Given the description of an element on the screen output the (x, y) to click on. 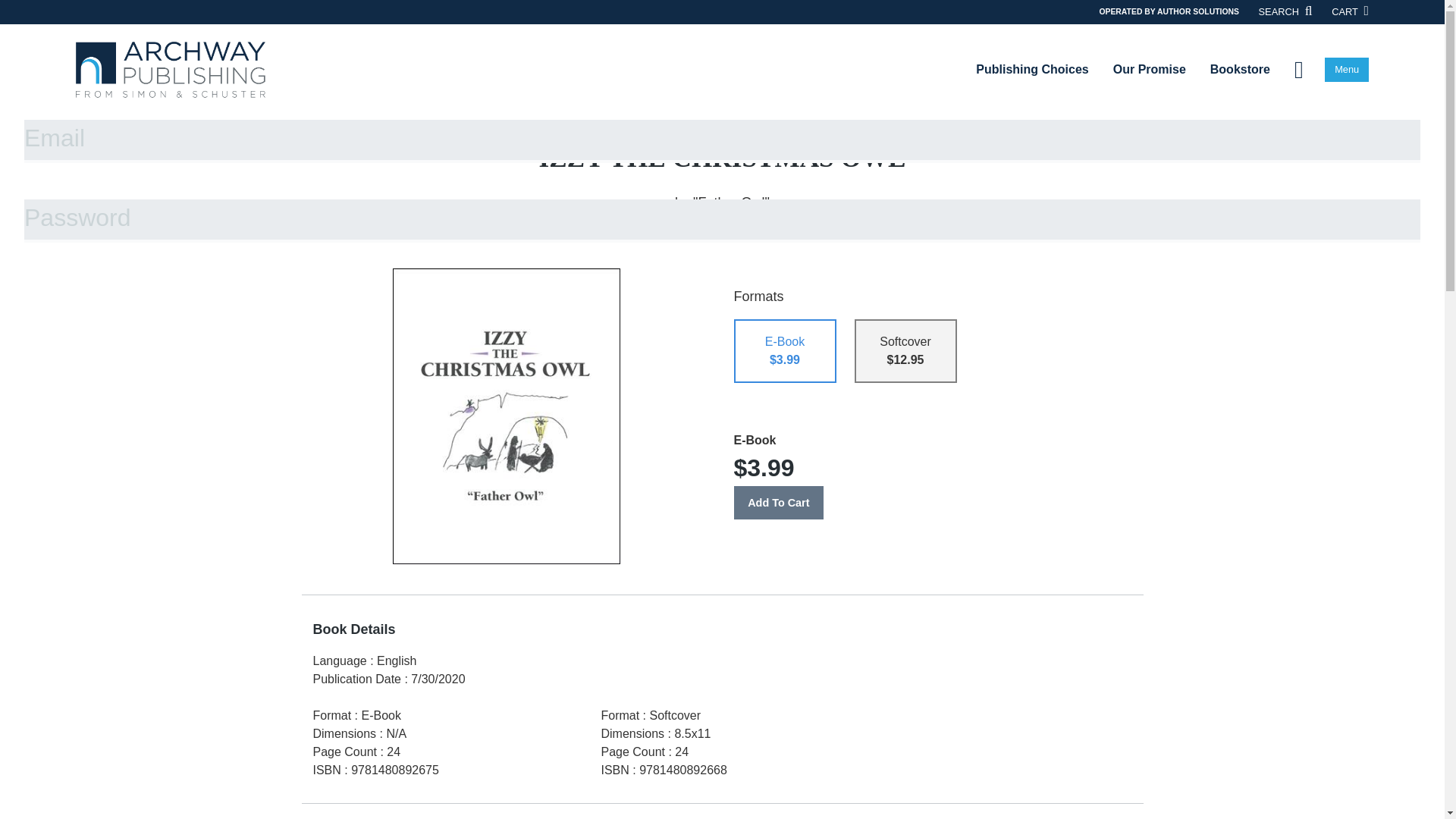
CART (1350, 11)
Our Promise (1149, 69)
Add To Cart (778, 502)
Bookstore (1240, 69)
Publishing Choices (1031, 69)
SEARCH (1286, 11)
Menu (1346, 69)
